Given the description of an element on the screen output the (x, y) to click on. 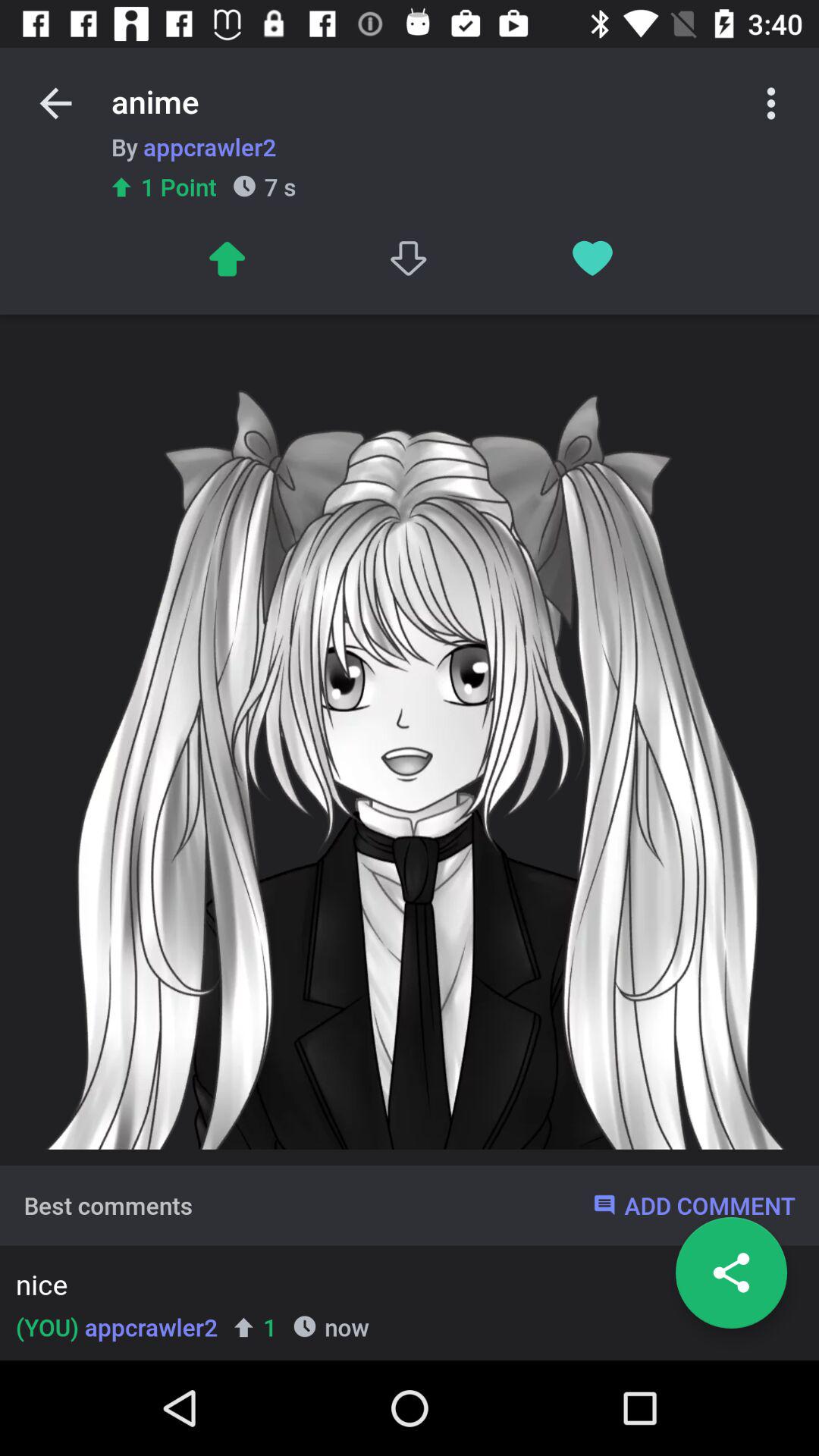
launch icon below best comments (405, 1287)
